Given the description of an element on the screen output the (x, y) to click on. 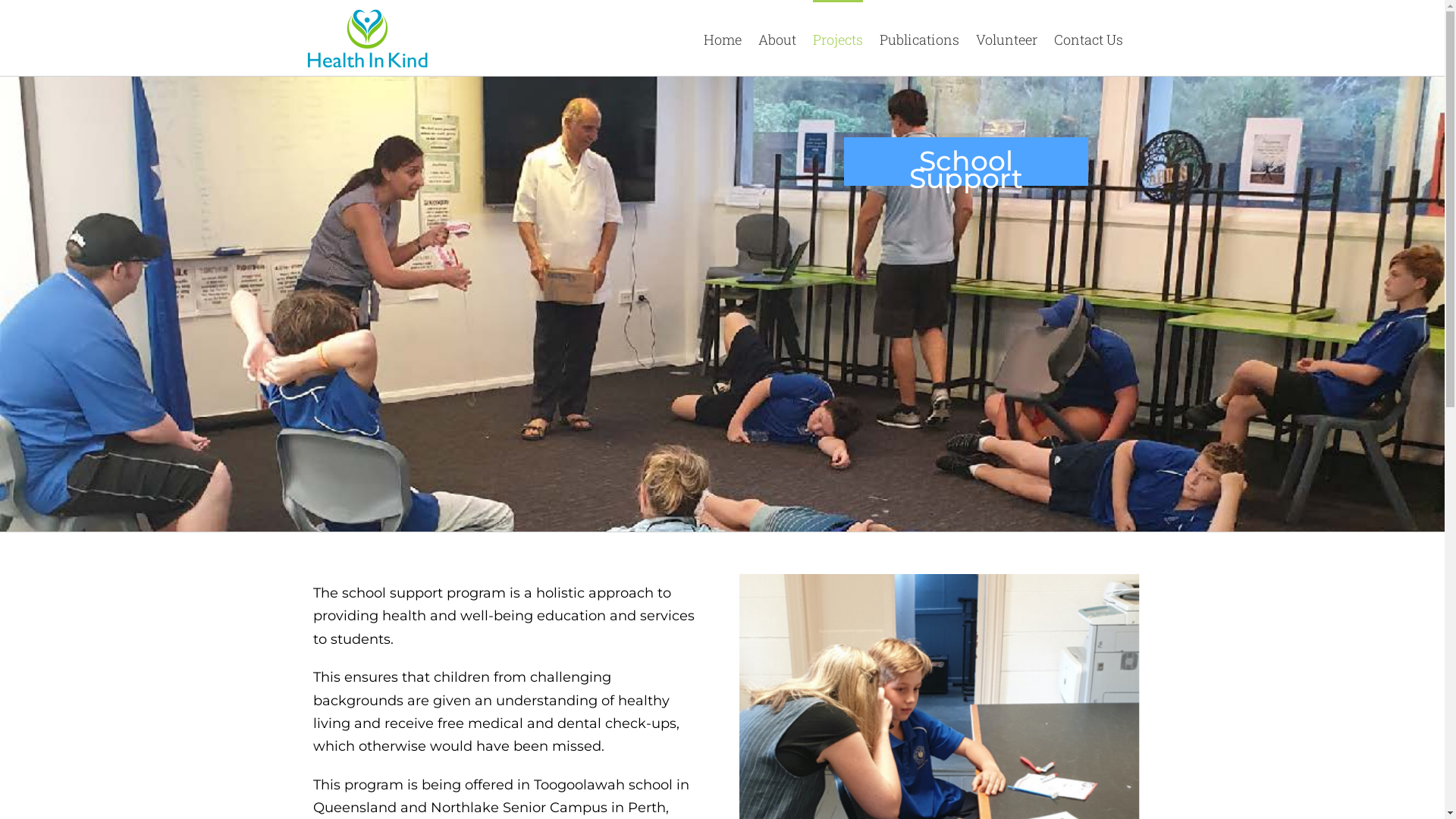
Contact Us Element type: text (1088, 37)
Projects Element type: text (837, 37)
About Element type: text (777, 37)
Home Element type: text (722, 37)
Volunteer Element type: text (1005, 37)
Publications Element type: text (919, 37)
